Given the description of an element on the screen output the (x, y) to click on. 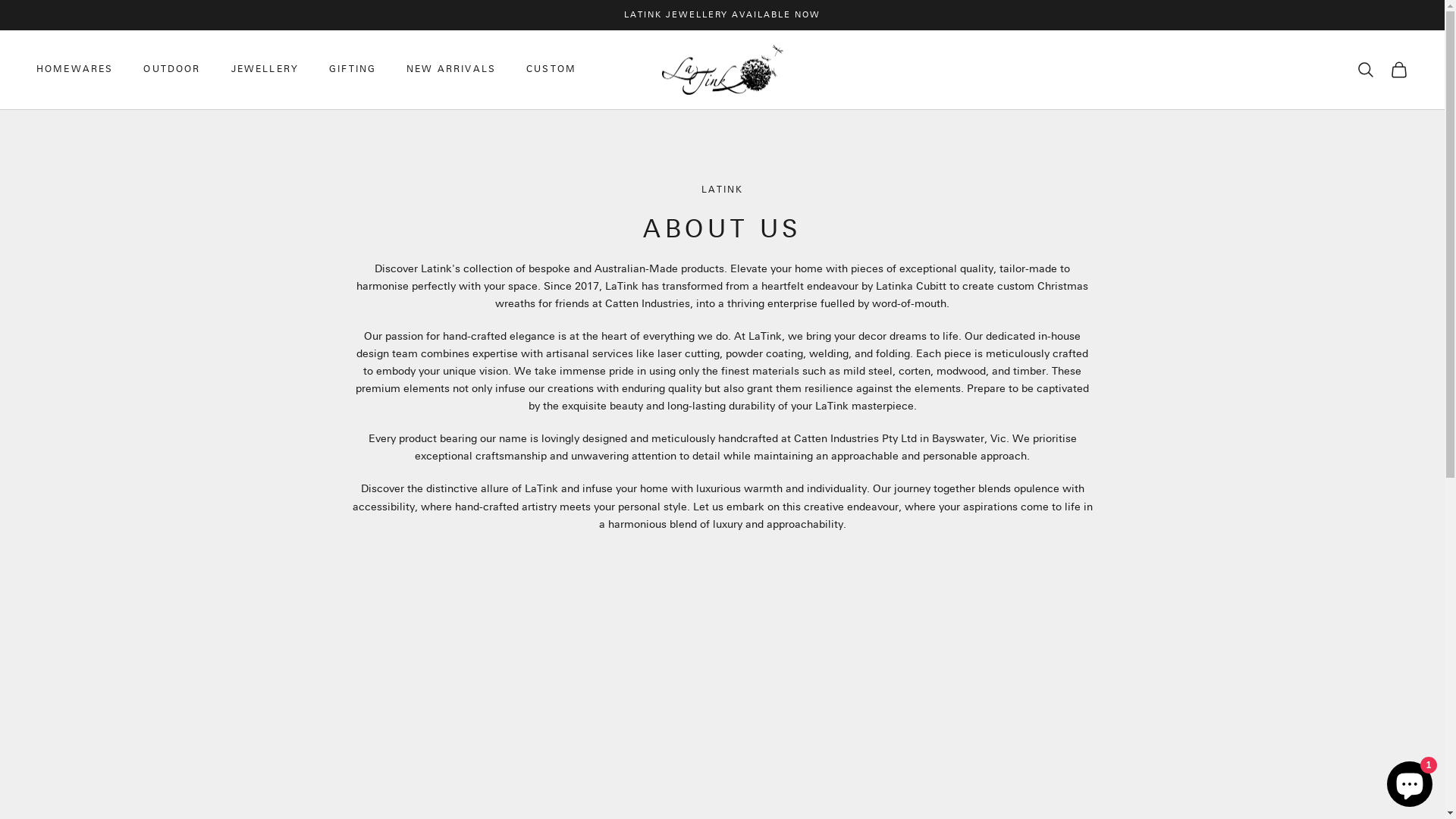
Open cart Element type: text (1399, 69)
LaTink Element type: text (721, 69)
Open search Element type: text (1365, 69)
CUSTOM Element type: text (551, 69)
Shopify online store chat Element type: hover (1409, 780)
JEWELLERY Element type: text (264, 69)
NEW ARRIVALS Element type: text (450, 69)
